Given the description of an element on the screen output the (x, y) to click on. 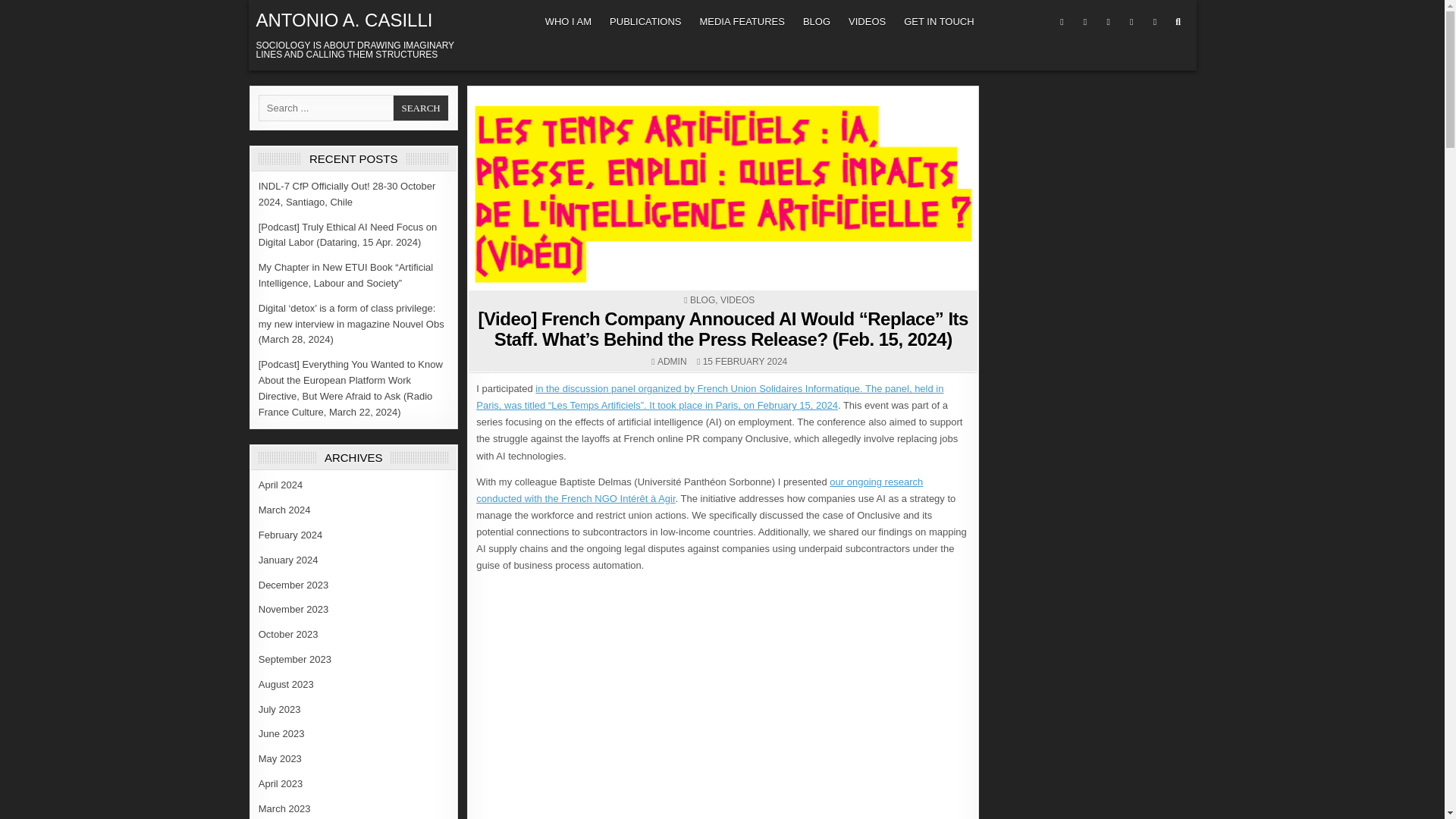
October 2023 (288, 633)
Search (420, 108)
PUBLICATIONS (644, 21)
March 2023 (285, 808)
May 2023 (280, 758)
November 2023 (294, 609)
WHO I AM (567, 21)
GET IN TOUCH (938, 21)
April 2024 (280, 484)
